Given the description of an element on the screen output the (x, y) to click on. 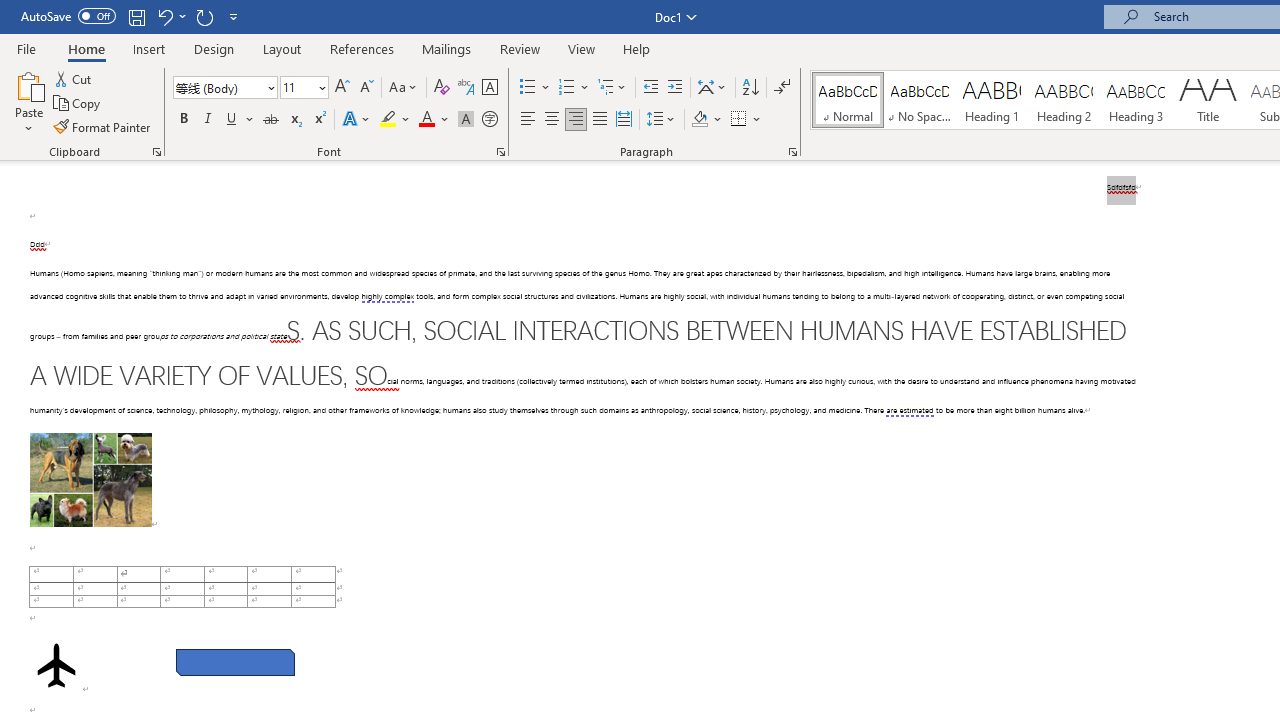
Rectangle: Diagonal Corners Snipped 2 (235, 662)
Undo Paragraph Alignment (164, 15)
